Given the description of an element on the screen output the (x, y) to click on. 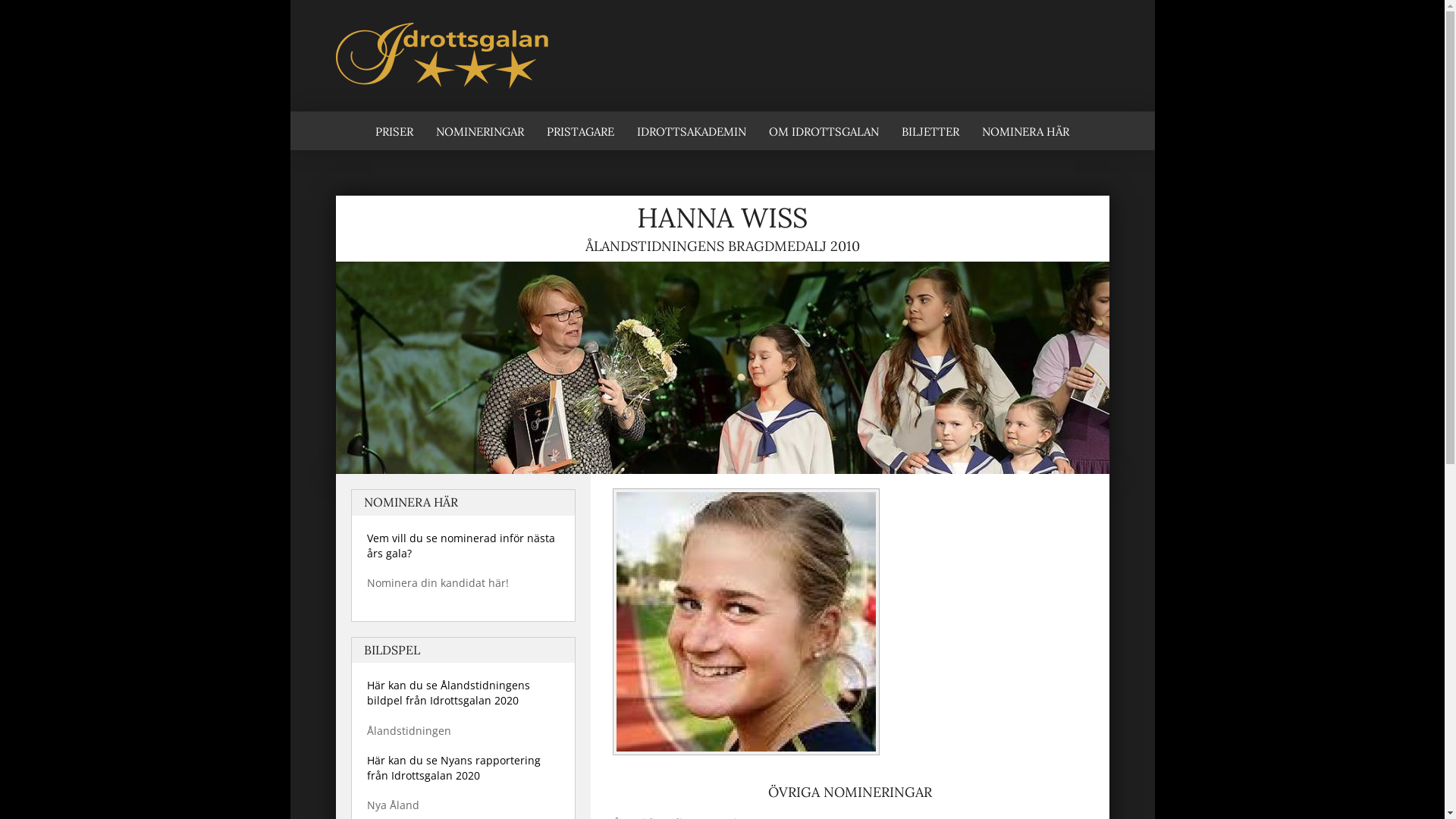
BILJETTER Element type: text (930, 130)
IDROTTSGALAN Element type: text (346, 268)
Idrottsgalan Element type: hover (721, 55)
NOMINERINGAR Element type: text (479, 130)
PRISER Element type: text (394, 130)
OM IDROTTSGALAN Element type: text (823, 130)
PRISTAGARE Element type: text (580, 130)
IDROTTSAKADEMIN Element type: text (691, 130)
